Given the description of an element on the screen output the (x, y) to click on. 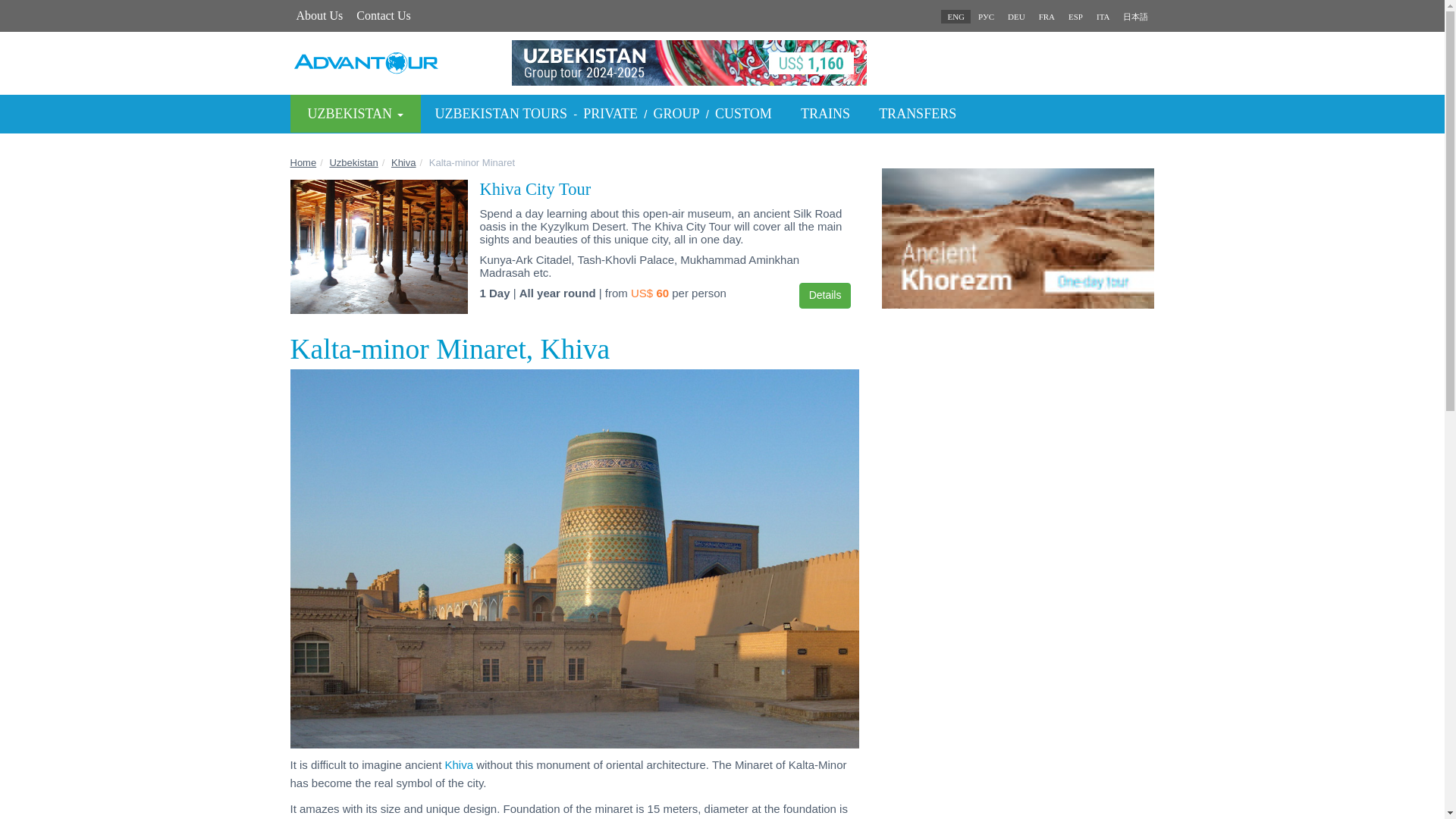
UZBEKISTAN (354, 113)
Khiva (403, 162)
Minaret Kalta-Minor, Khiva (1046, 16)
TRANSFERS (917, 113)
About Us (319, 15)
Uzbekistan Group Departures (676, 113)
Uzbekistan (353, 162)
Khiva City Tour (535, 189)
ITA (1102, 16)
Kalta Minor, Chiwa (1015, 16)
Advantour Home Page (302, 162)
DEU (1015, 16)
Small Group Uzbekistan Tour 2024-2025 (722, 62)
Uzbekistan Travel (353, 162)
Khiva, Uzbekistan (1102, 16)
